Given the description of an element on the screen output the (x, y) to click on. 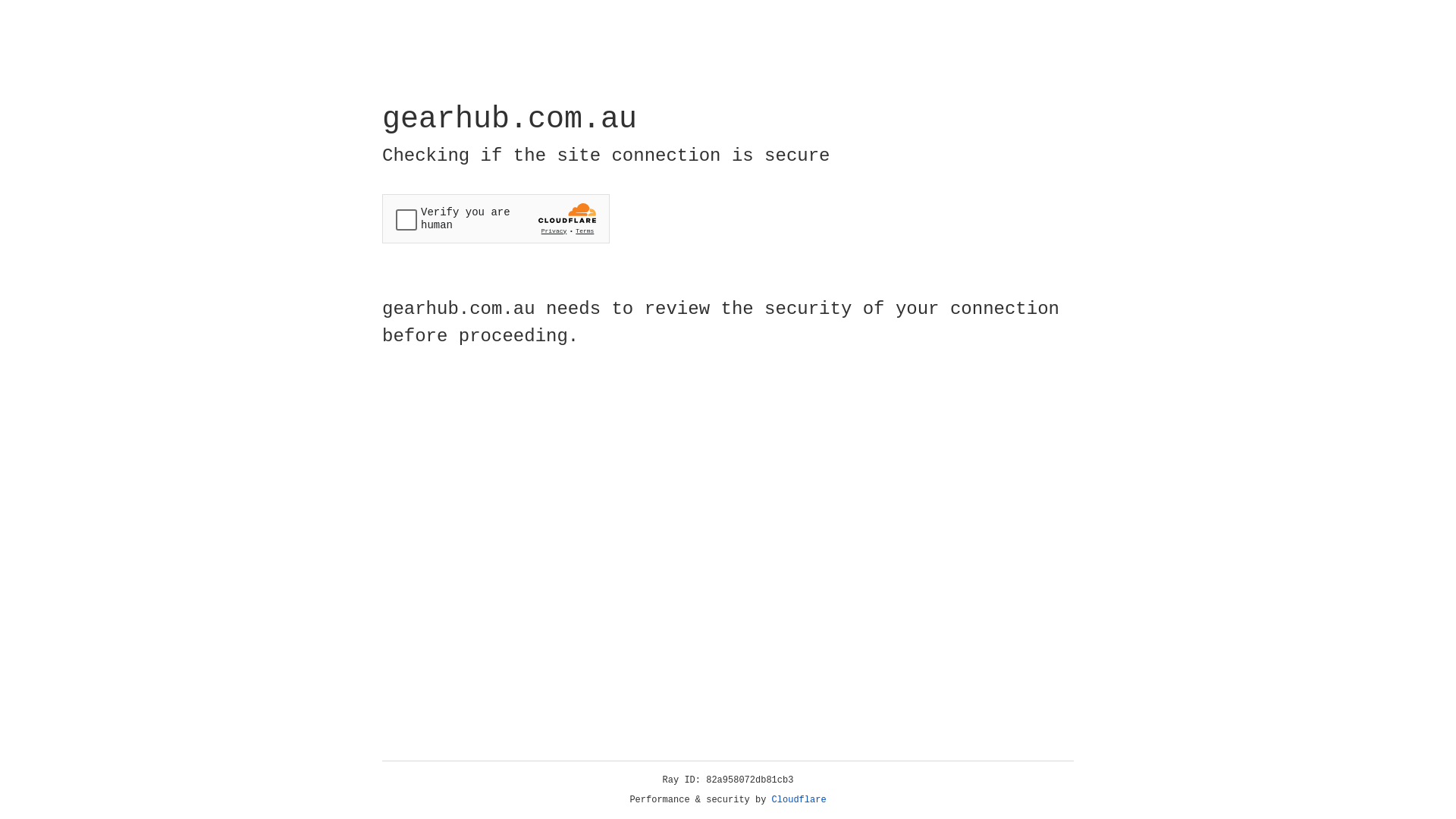
Cloudflare Element type: text (798, 799)
Widget containing a Cloudflare security challenge Element type: hover (495, 218)
